Given the description of an element on the screen output the (x, y) to click on. 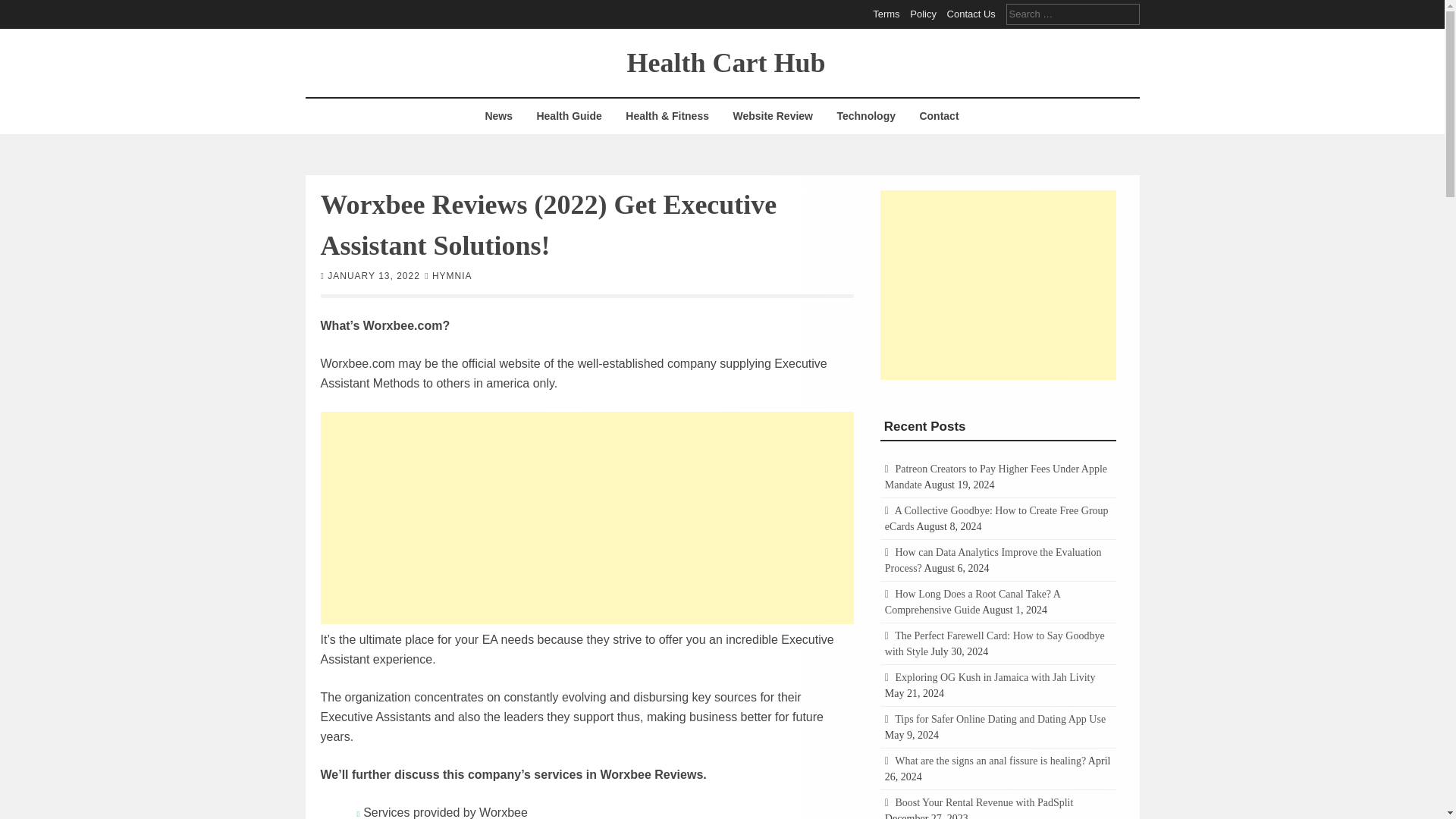
Technology (866, 116)
Exploring OG Kush in Jamaica with Jah Livity (994, 677)
Health Guide (568, 116)
Contact (938, 116)
Health Cart Hub (725, 61)
Patreon Creators to Pay Higher Fees Under Apple Mandate (995, 476)
Policy (923, 13)
Tips for Safer Online Dating and Dating App Use (1000, 718)
Terms (885, 13)
Website Review (772, 116)
